Given the description of an element on the screen output the (x, y) to click on. 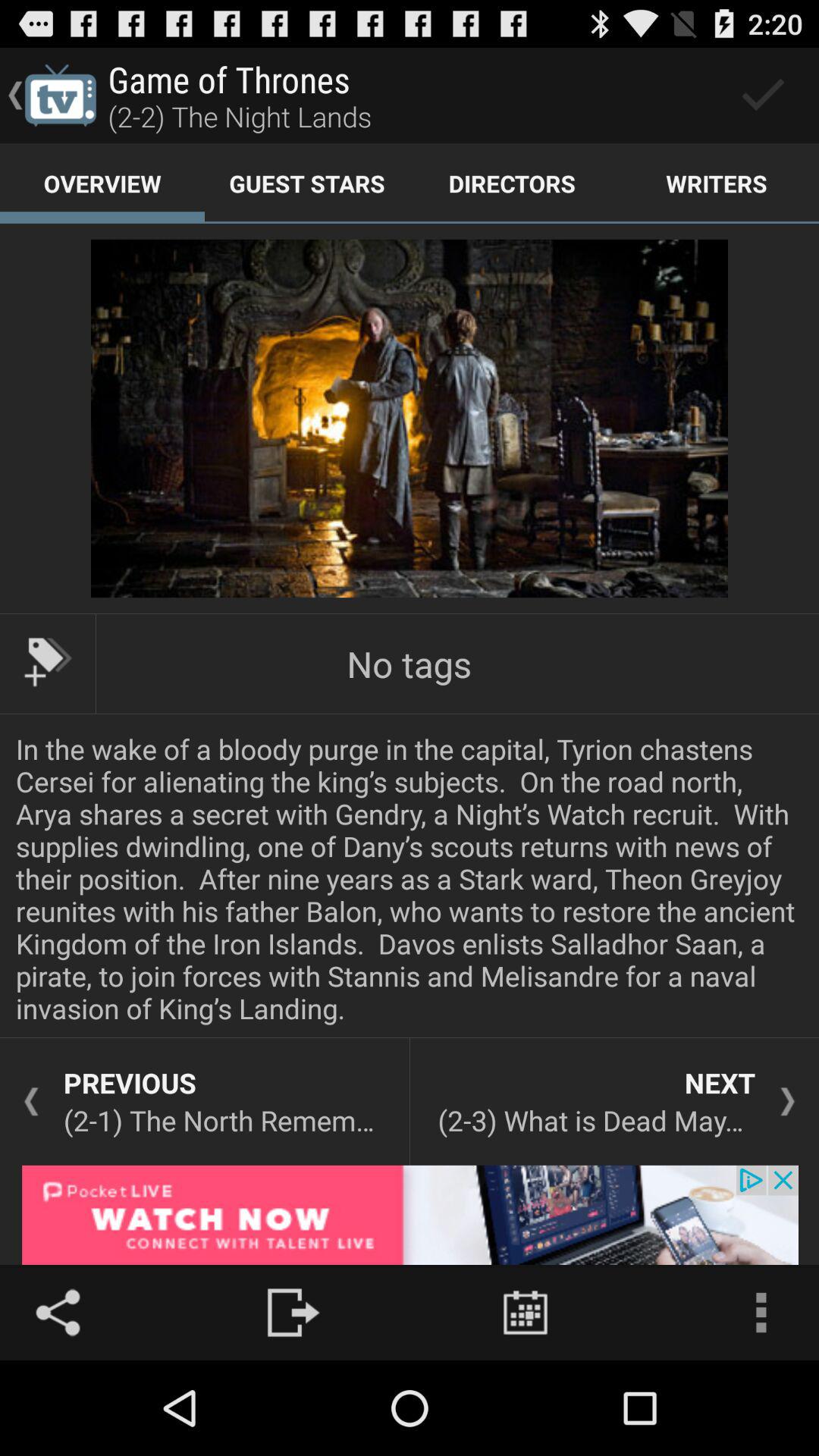
mark watched (763, 95)
